Given the description of an element on the screen output the (x, y) to click on. 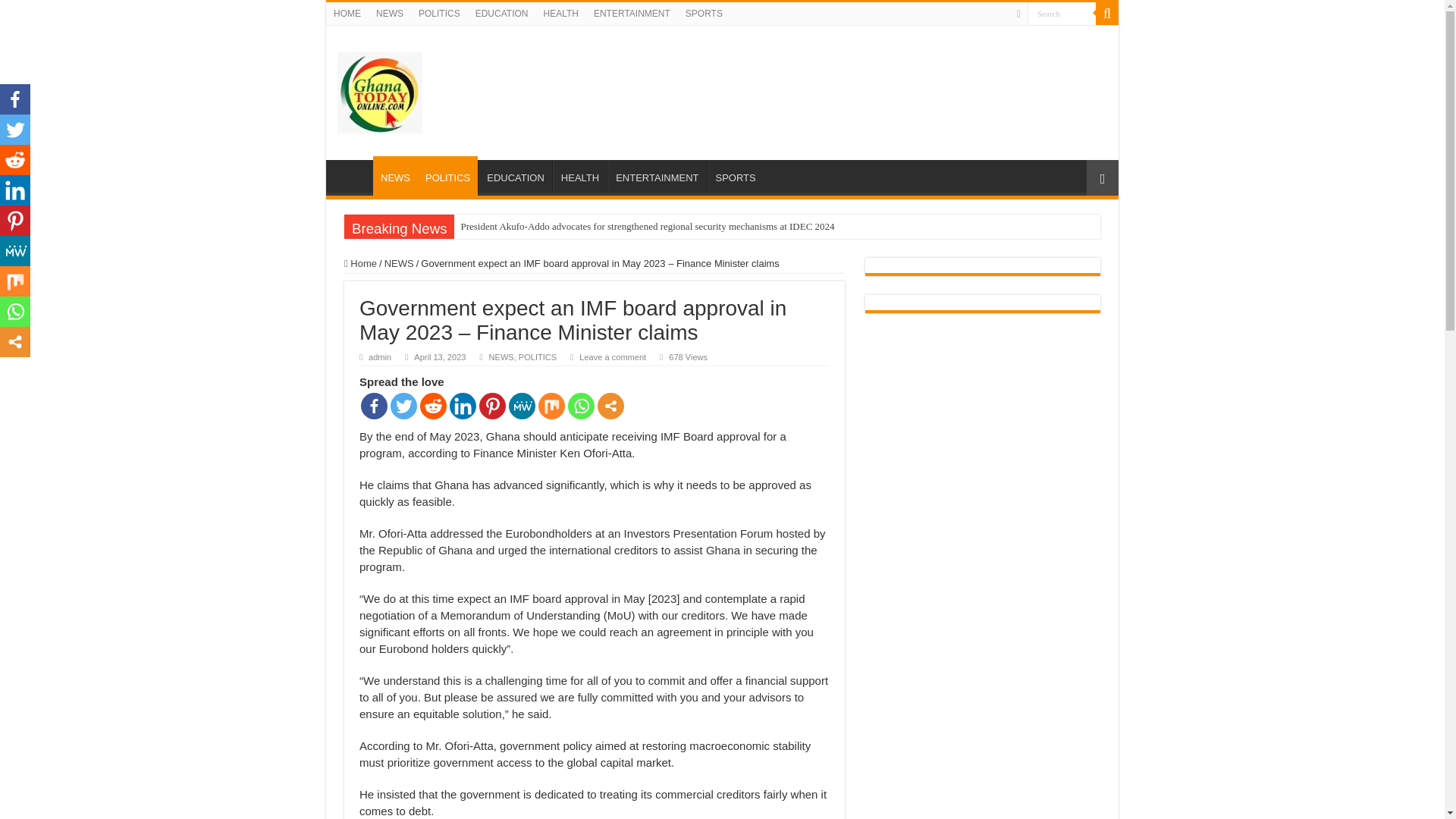
Search (1061, 13)
EDUCATION (501, 13)
SPORTS (734, 175)
Search (1061, 13)
POLITICS (537, 356)
NEWS (389, 13)
HOME (347, 13)
Leave a comment (612, 356)
